Given the description of an element on the screen output the (x, y) to click on. 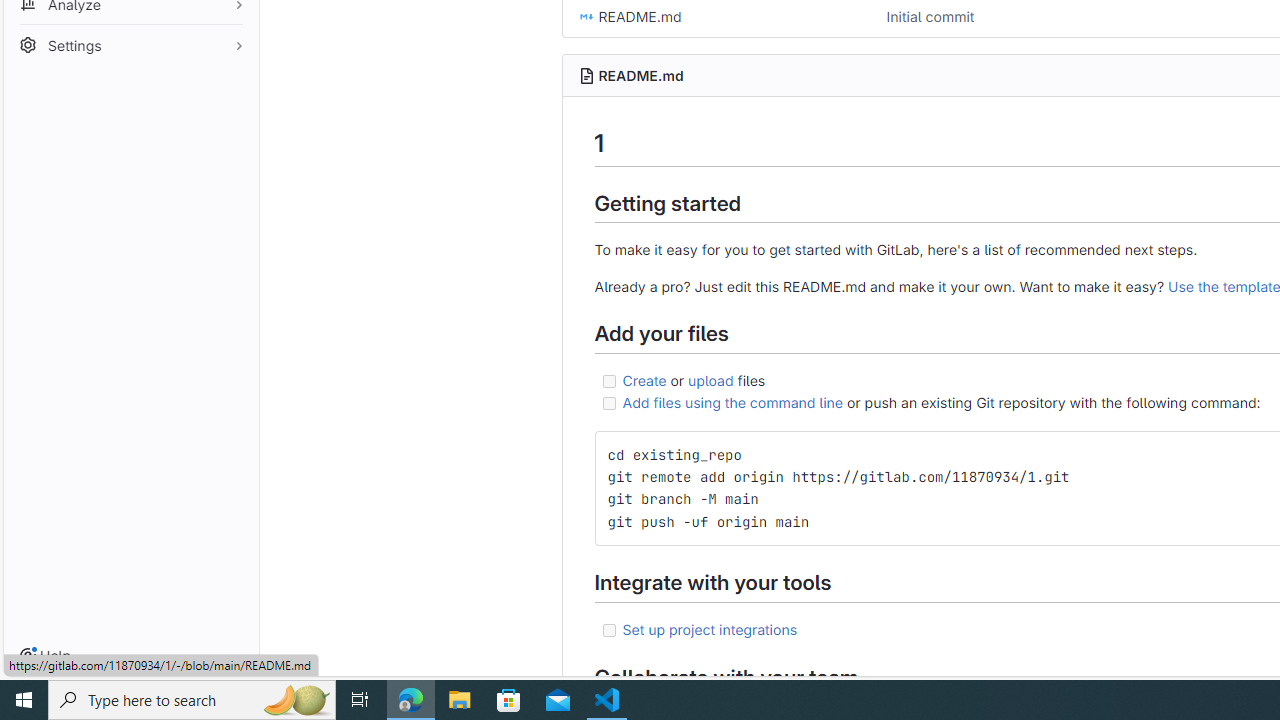
Class: s16 position-relative file-icon (586, 16)
Create (644, 379)
README.md (640, 75)
Set up project integrations (709, 628)
upload (710, 379)
Add files using the command line (732, 402)
Class: task-list-item-checkbox (608, 629)
Initial commit (930, 16)
